Given the description of an element on the screen output the (x, y) to click on. 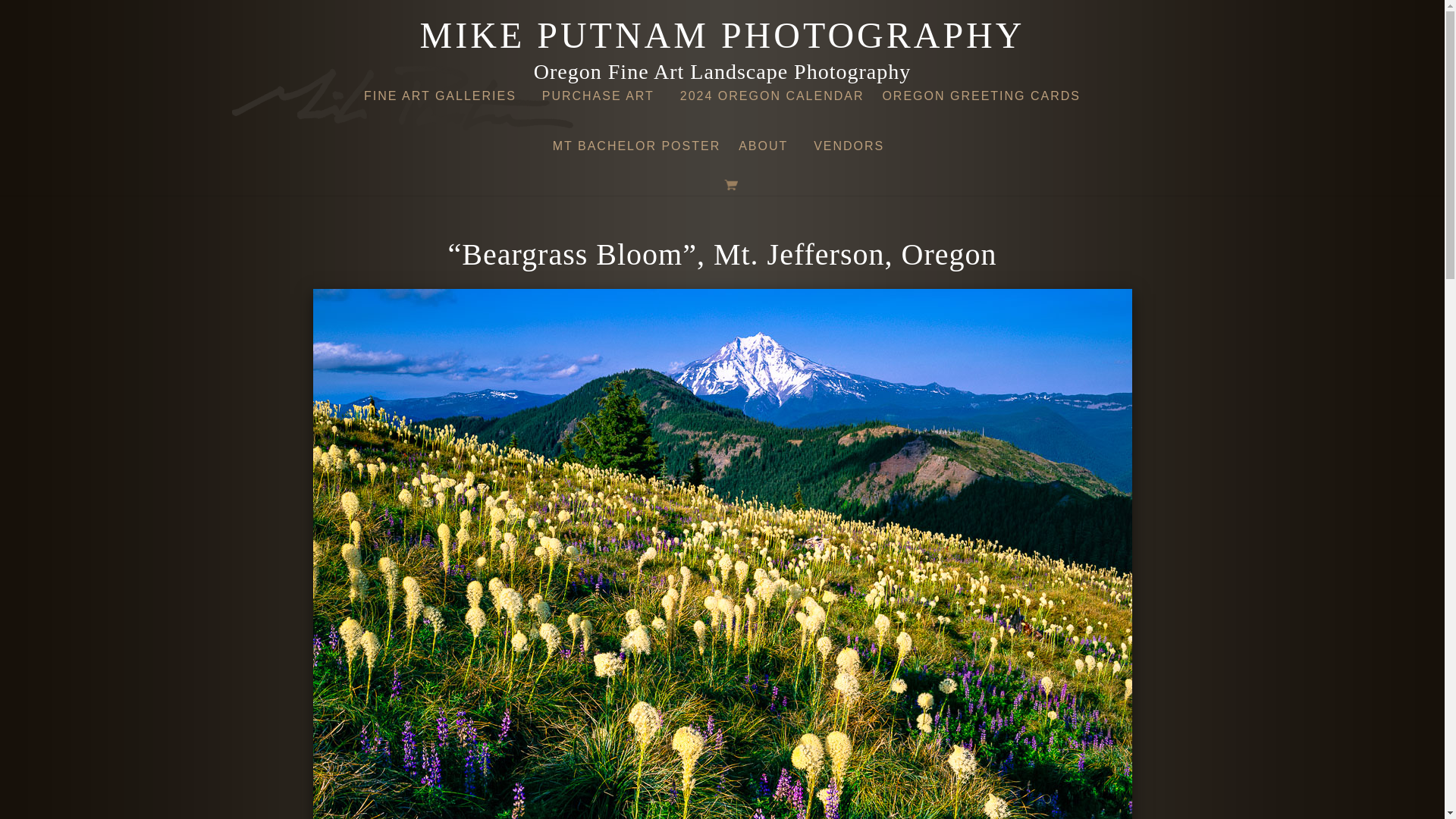
VENDORS (852, 151)
OREGON GREETING CARDS (981, 101)
ABOUT (766, 151)
PURCHASE ART (601, 101)
MIKE PUTNAM PHOTOGRAPHY (722, 46)
MT BACHELOR POSTER (636, 151)
2024 OREGON CALENDAR (772, 101)
FINE ART GALLERIES (443, 101)
